Given the description of an element on the screen output the (x, y) to click on. 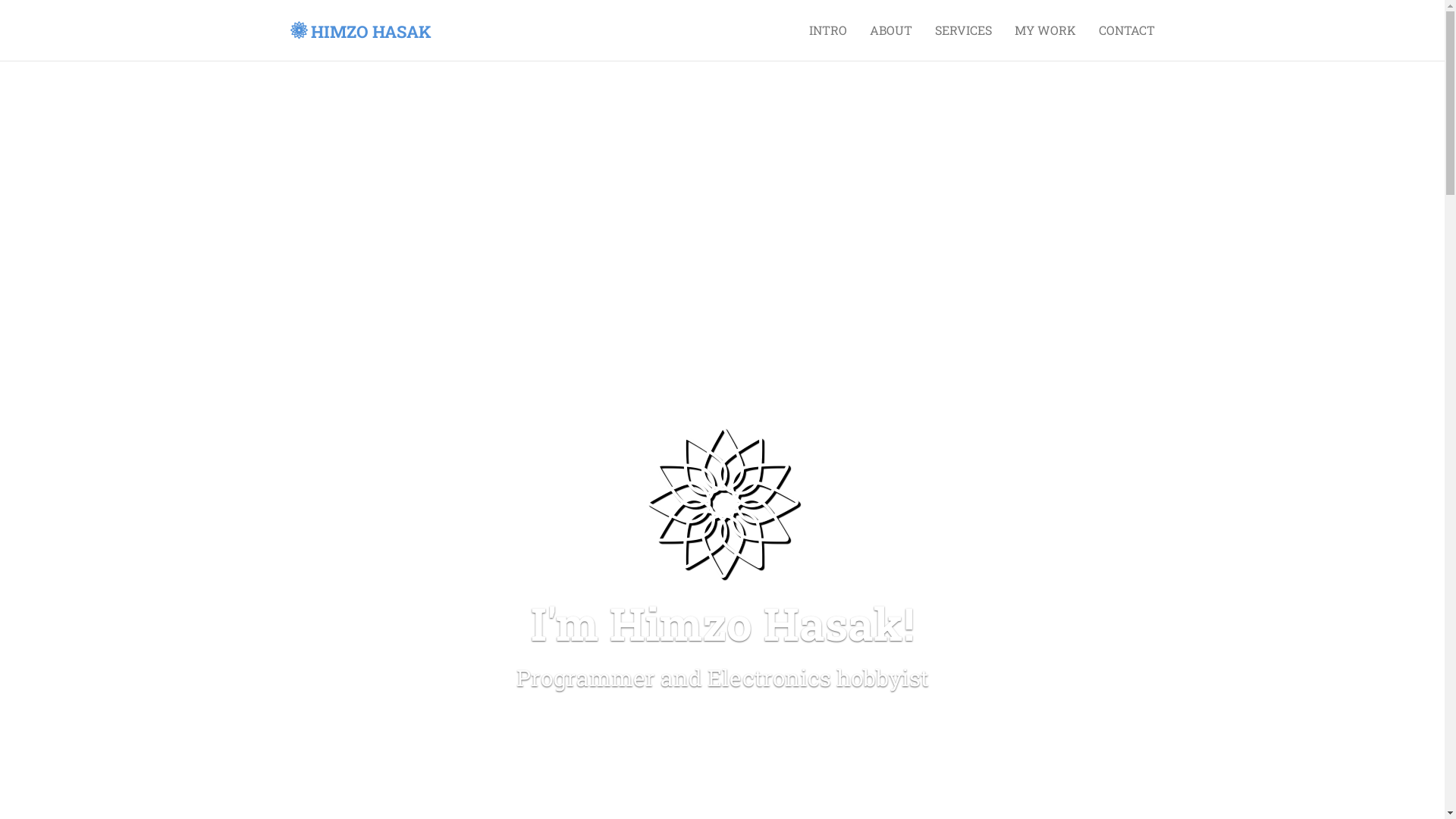
CONTACT Element type: text (1126, 30)
MY WORK Element type: text (1044, 30)
ABOUT Element type: text (890, 30)
SERVICES Element type: text (963, 30)
INTRO Element type: text (827, 30)
HIMZO HASAK Element type: text (360, 30)
